Given the description of an element on the screen output the (x, y) to click on. 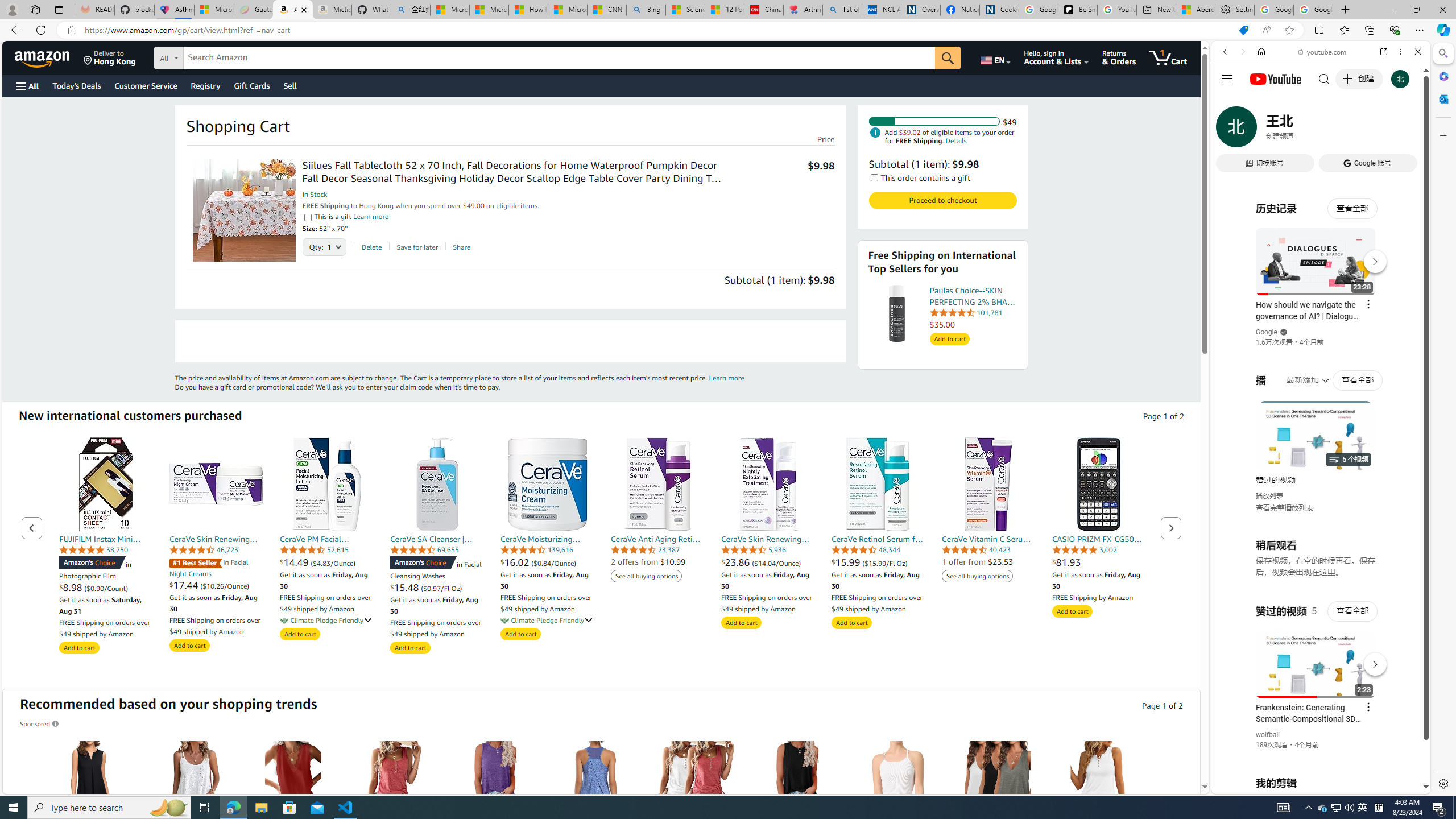
CASIO PRIZM FX-CG50 Color Graphing Calculator (1098, 484)
$15.48  (405, 587)
2 offers from $10.99 (648, 561)
This order contains a gift (873, 177)
